Given the description of an element on the screen output the (x, y) to click on. 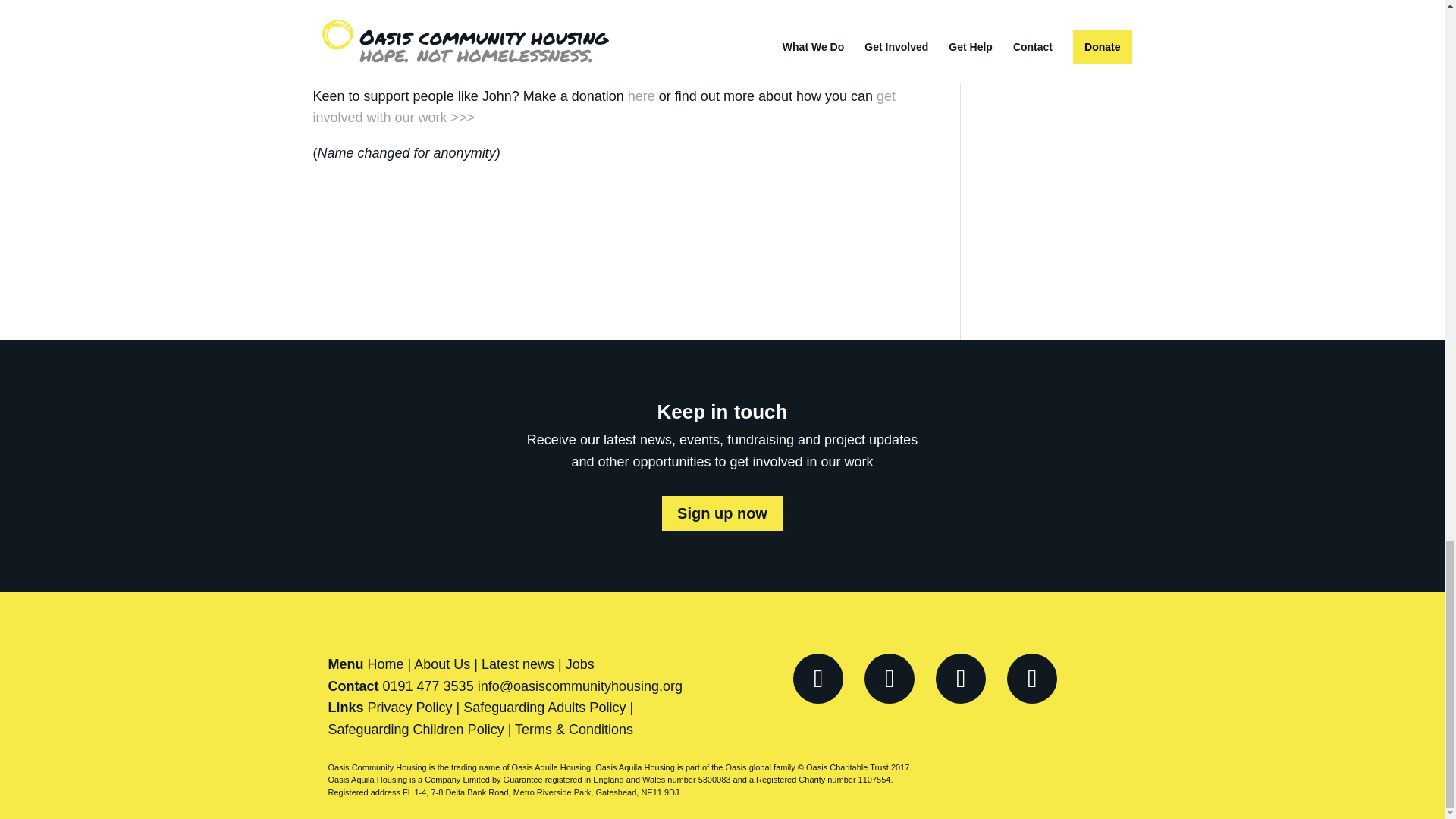
here (641, 95)
Follow on Instagram (960, 678)
Gateshead Basis drop-in (664, 38)
Follow on Facebook (818, 678)
Follow on Twitter (889, 678)
Follow on LinkedIn (1032, 678)
